Given the description of an element on the screen output the (x, y) to click on. 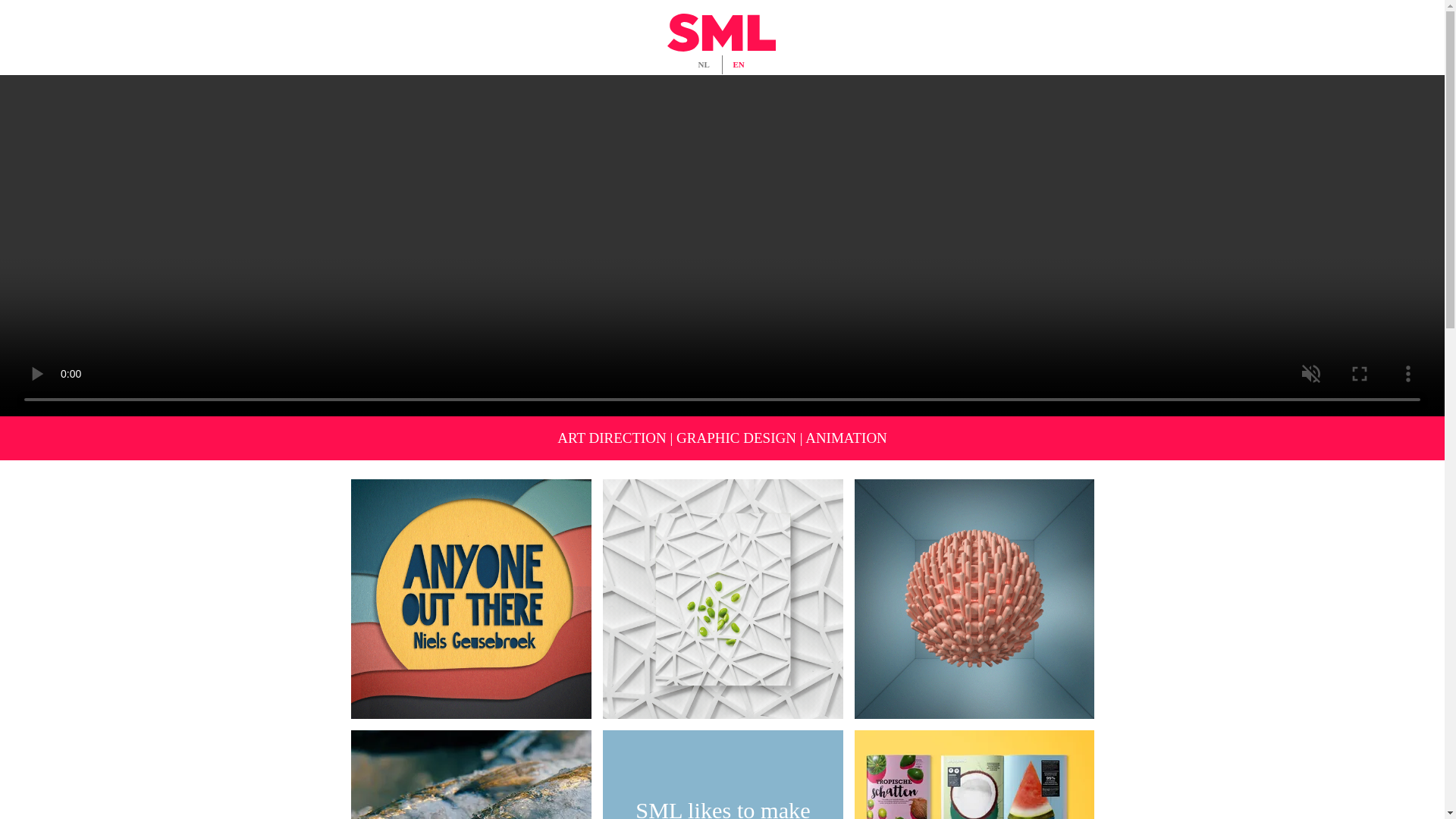
NL (703, 64)
EN (739, 64)
